Given the description of an element on the screen output the (x, y) to click on. 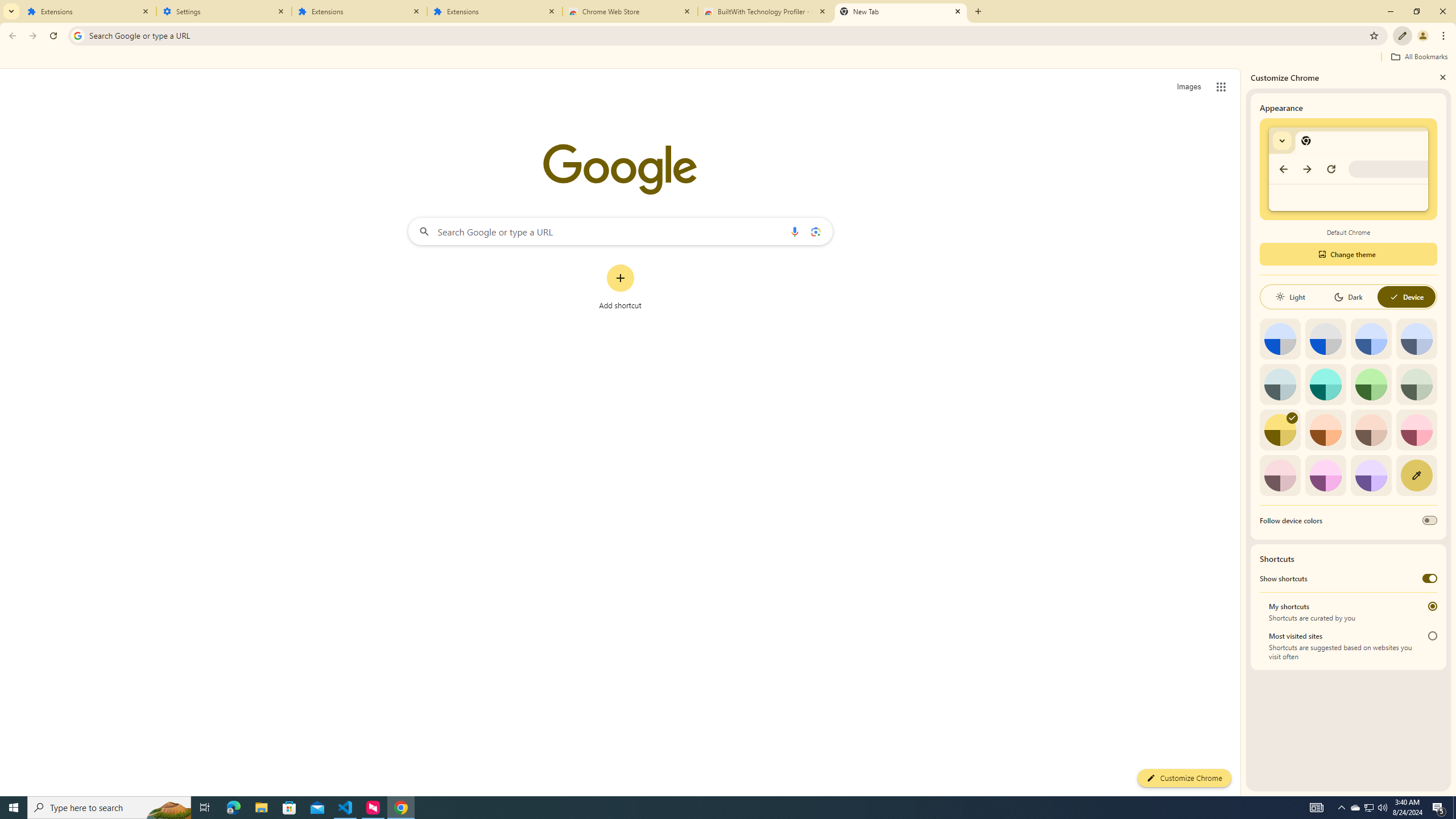
Dark (1348, 296)
Change theme (1348, 254)
My shortcuts (1432, 605)
Rose (1416, 429)
Default color (1279, 338)
AutomationID: baseSvg (1394, 296)
Extensions (88, 11)
Device (1406, 296)
Aqua (1325, 383)
